Given the description of an element on the screen output the (x, y) to click on. 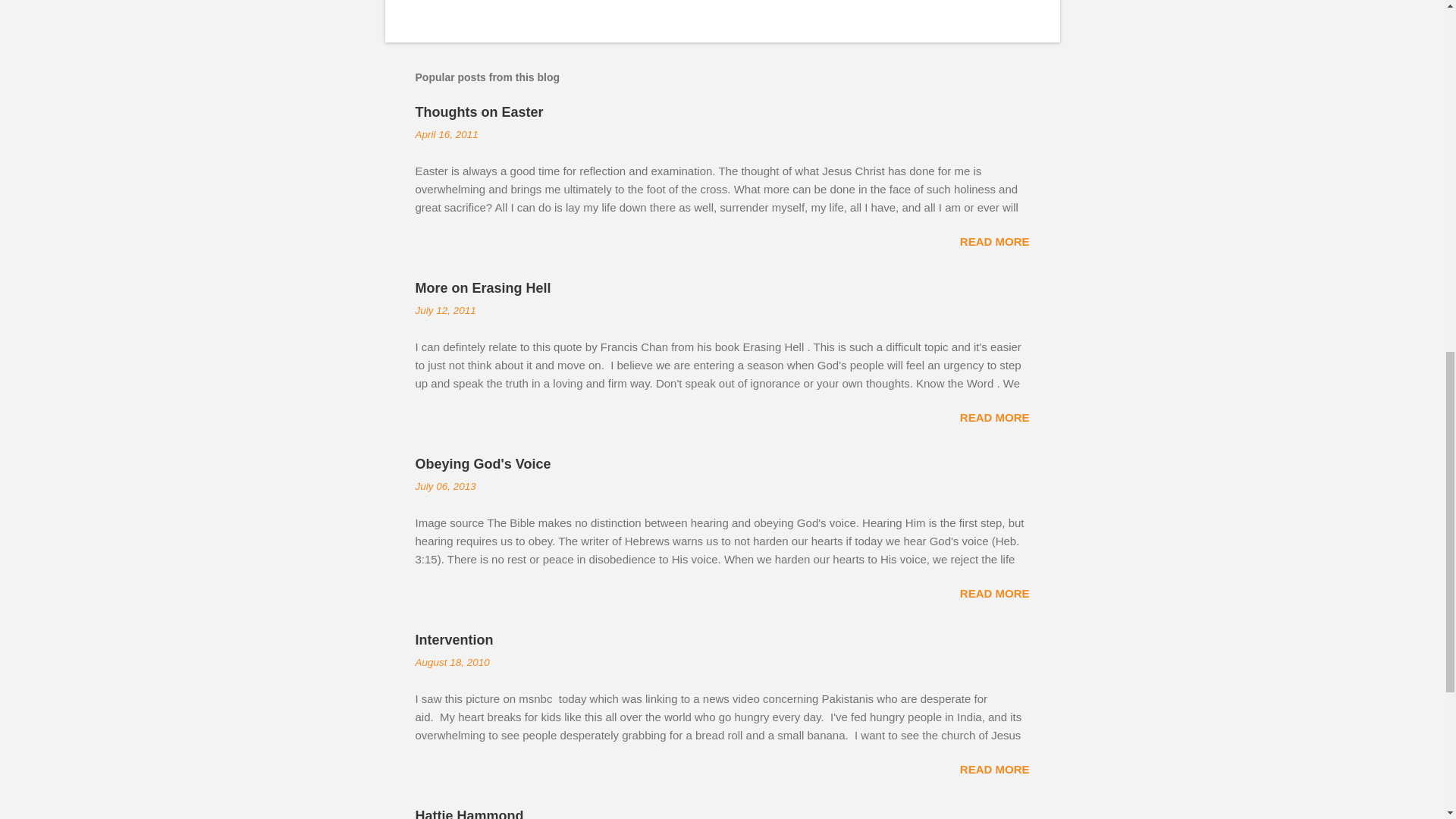
Thoughts on Easter (478, 111)
July 12, 2011 (445, 310)
April 16, 2011 (446, 134)
READ MORE (994, 768)
READ MORE (994, 241)
More on Erasing Hell (482, 287)
Hattie Hammond (469, 813)
READ MORE (994, 417)
permanent link (446, 134)
August 18, 2010 (451, 662)
